Given the description of an element on the screen output the (x, y) to click on. 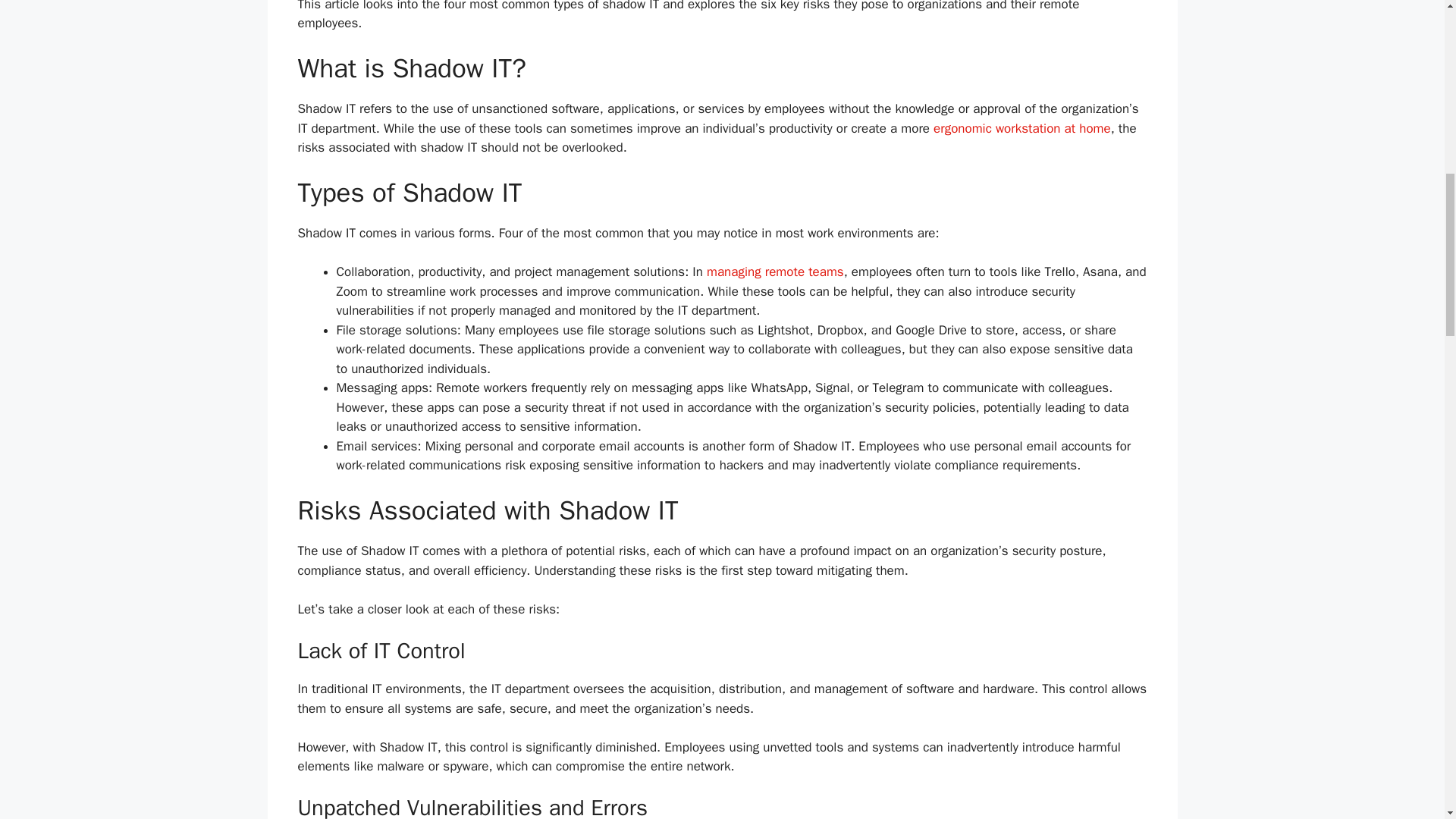
Scroll back to top (1406, 720)
ergonomic workstation at home (1021, 128)
managing remote teams (775, 271)
